Given the description of an element on the screen output the (x, y) to click on. 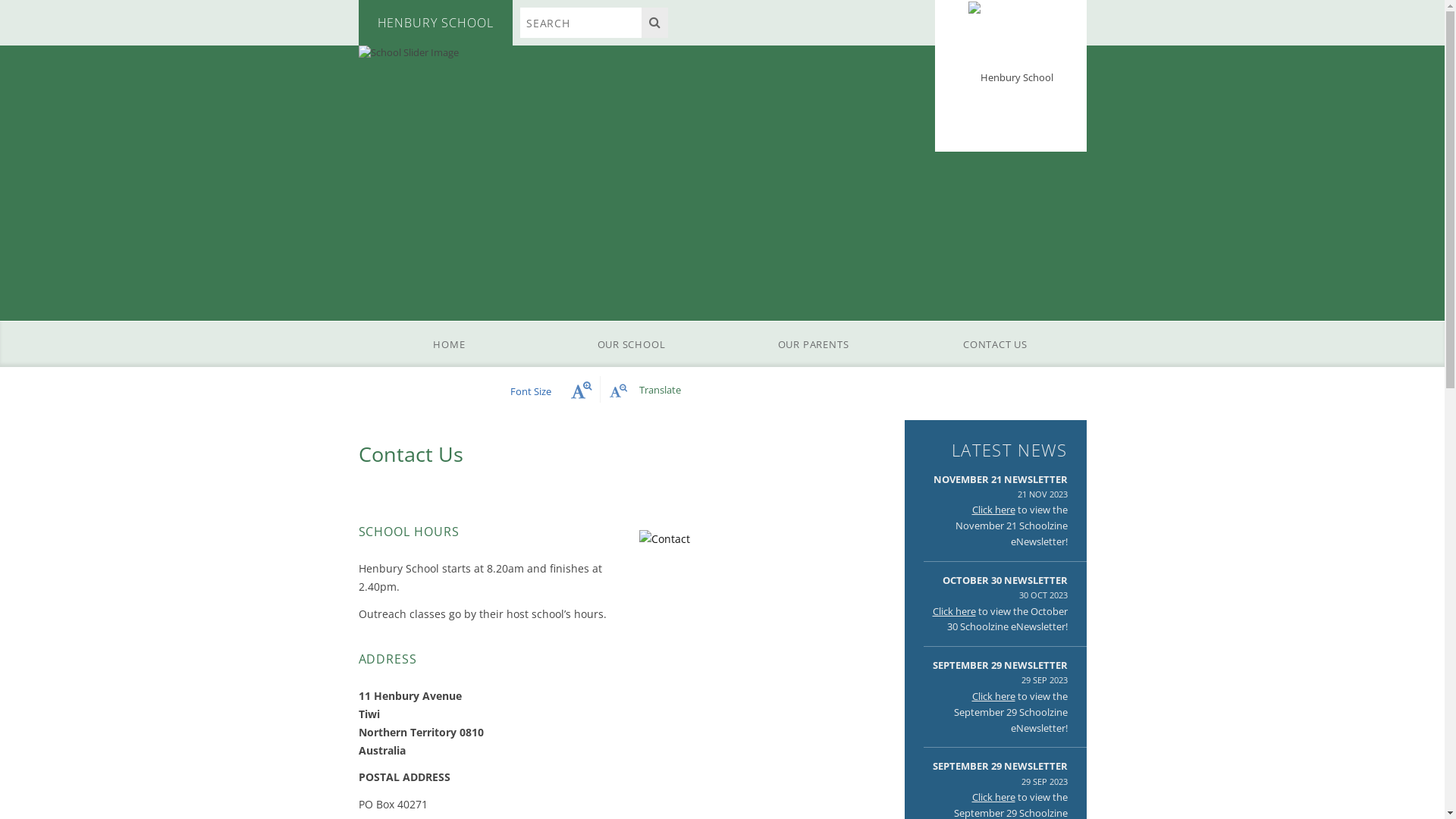
Click here Element type: text (993, 509)
HENBURY SCHOOL Element type: text (434, 22)
Click here Element type: text (993, 796)
OUR PARENTS Element type: text (812, 344)
CONTACT US Element type: text (994, 344)
OUR SCHOOL Element type: text (630, 344)
HOME Element type: text (448, 344)
Click here Element type: text (993, 695)
Search Element type: hover (580, 22)
Click here Element type: text (953, 611)
Search Element type: hover (654, 22)
